Given the description of an element on the screen output the (x, y) to click on. 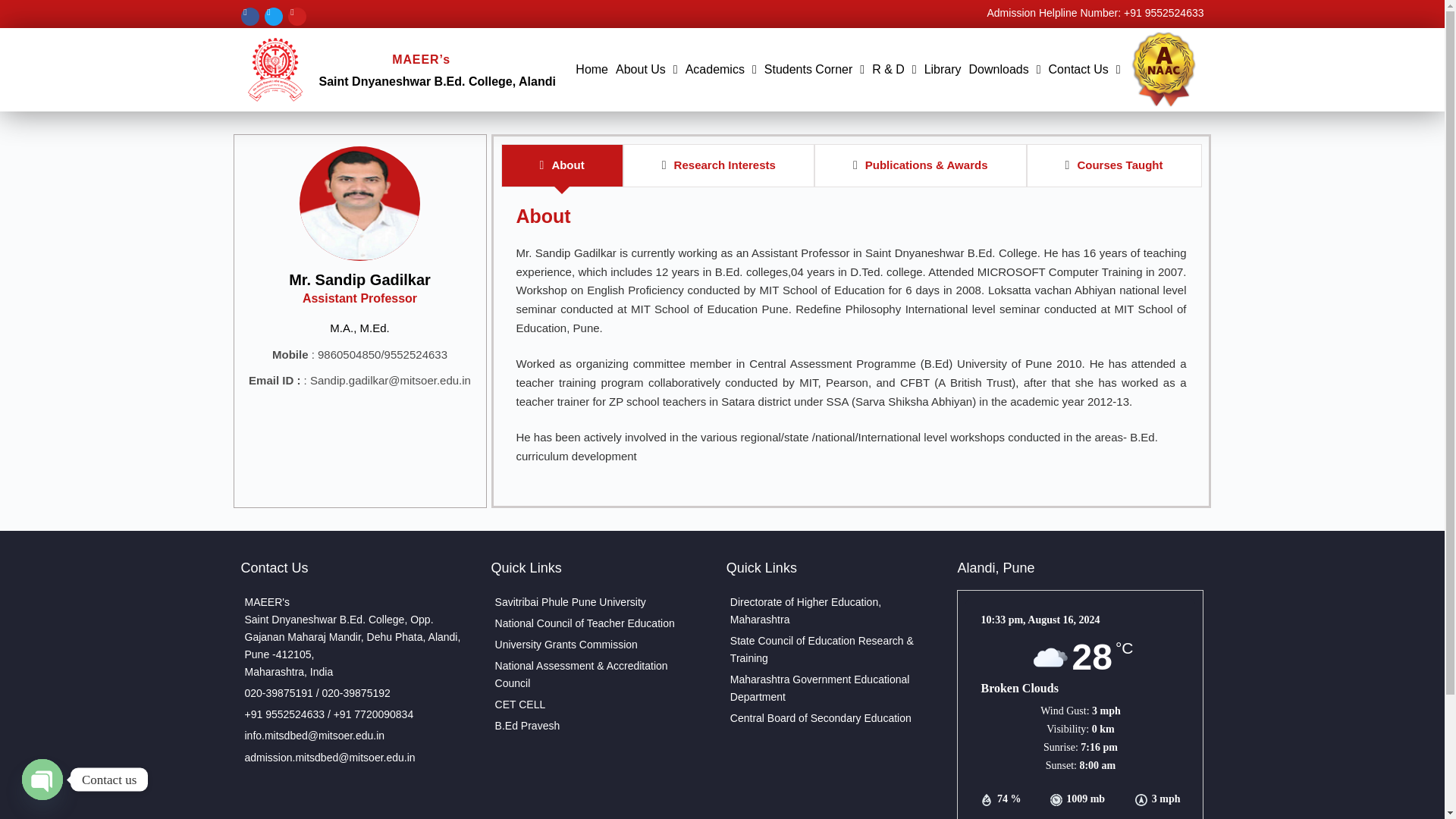
Academics (720, 69)
Home (591, 69)
NAAC Accreditation (1163, 69)
cropped-MAEERs-LOGO-512x512px-1.png (274, 69)
Students Corner (813, 69)
About Us (646, 69)
Skip to content (15, 7)
